Given the description of an element on the screen output the (x, y) to click on. 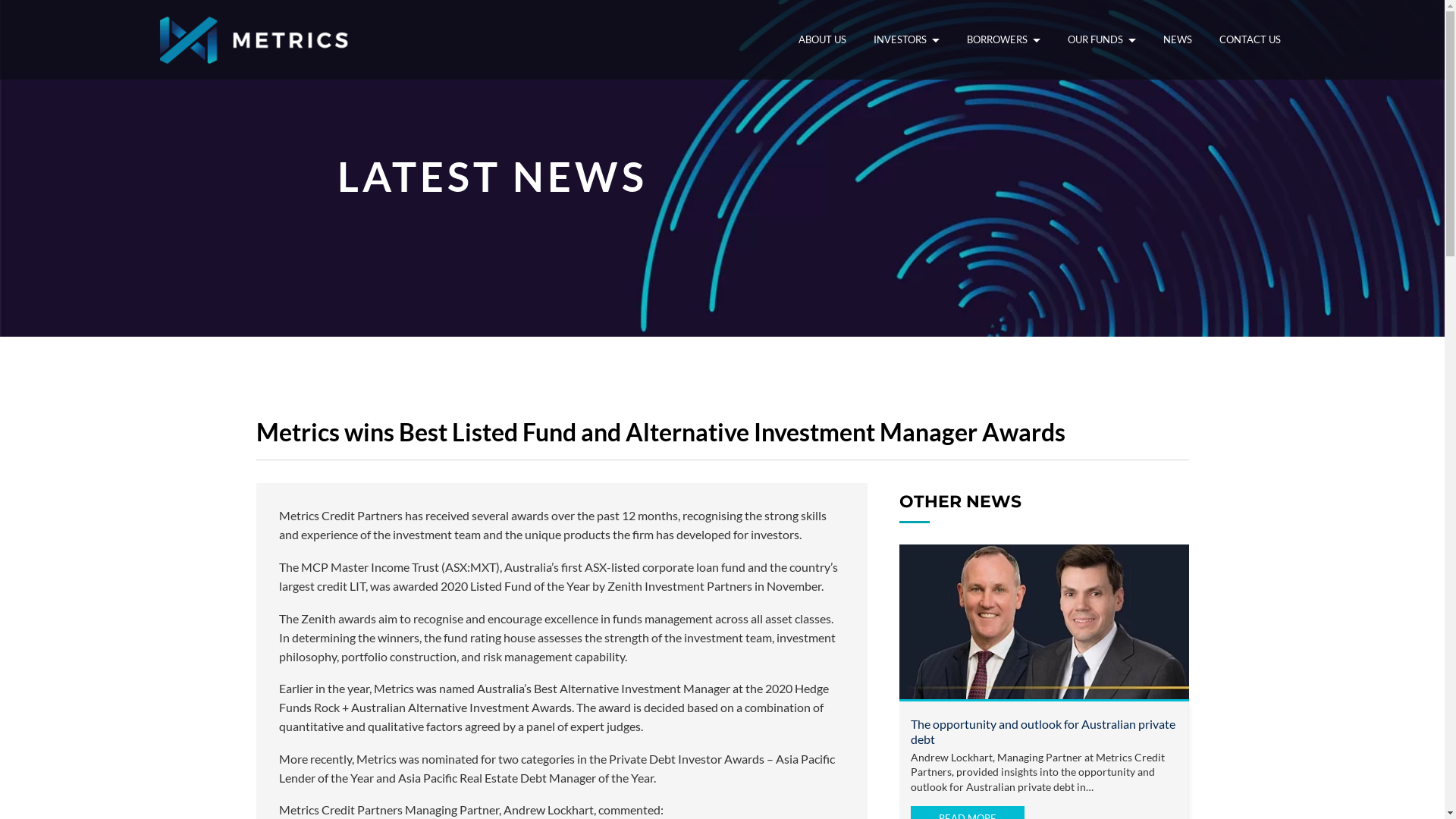
Metrics Element type: hover (255, 39)
ABOUT US Element type: text (822, 39)
The opportunity and outlook for Australian private debt Element type: text (1042, 730)
BORROWERS Element type: text (1003, 39)
OUR FUNDS Element type: text (1100, 39)
NEWS Element type: text (1176, 39)
CONTACT US Element type: text (1249, 39)
INVESTORS Element type: text (905, 39)
